Given the description of an element on the screen output the (x, y) to click on. 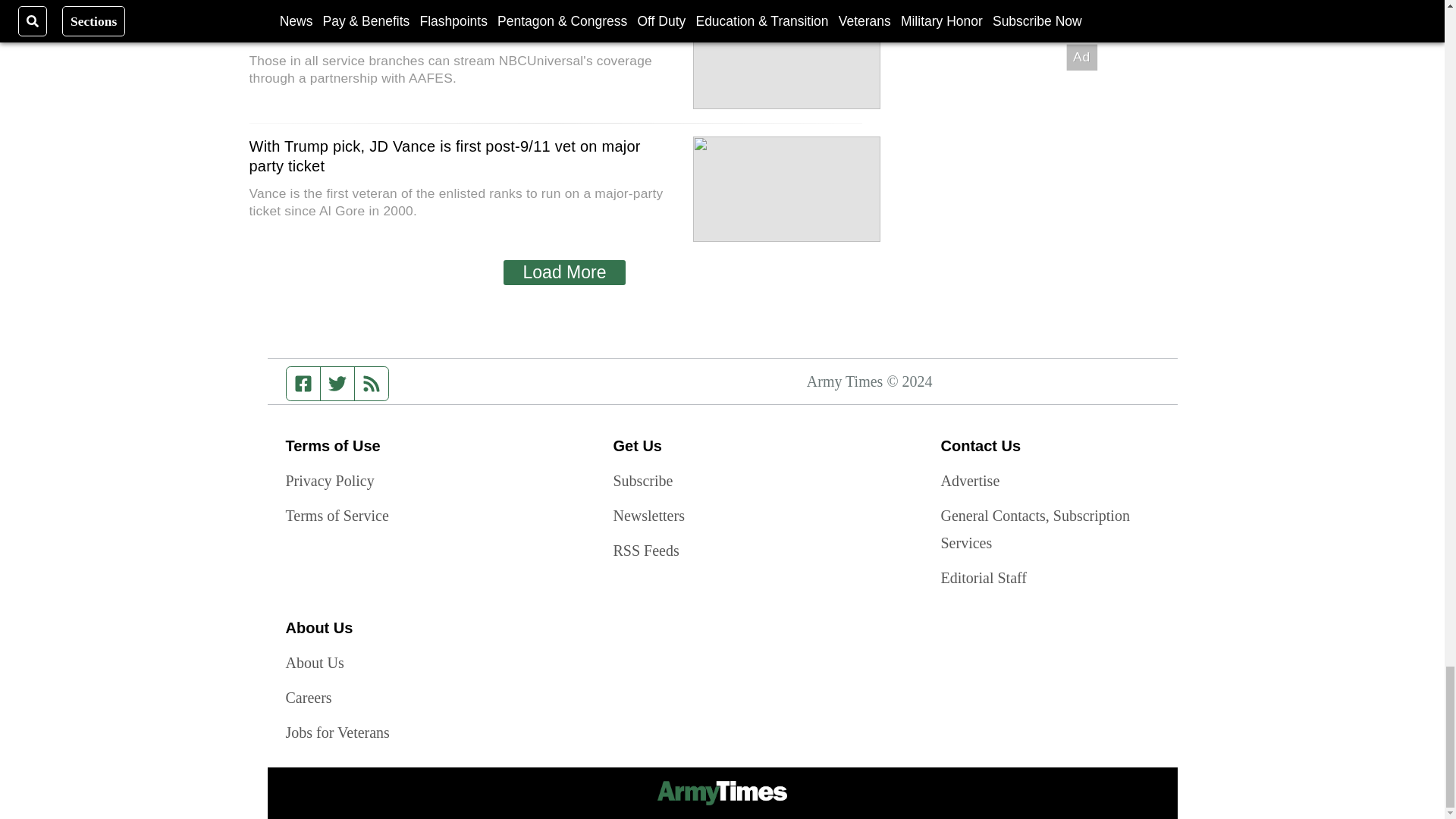
Facebook page (303, 383)
Twitter feed (336, 383)
RSS feed (371, 383)
